Given the description of an element on the screen output the (x, y) to click on. 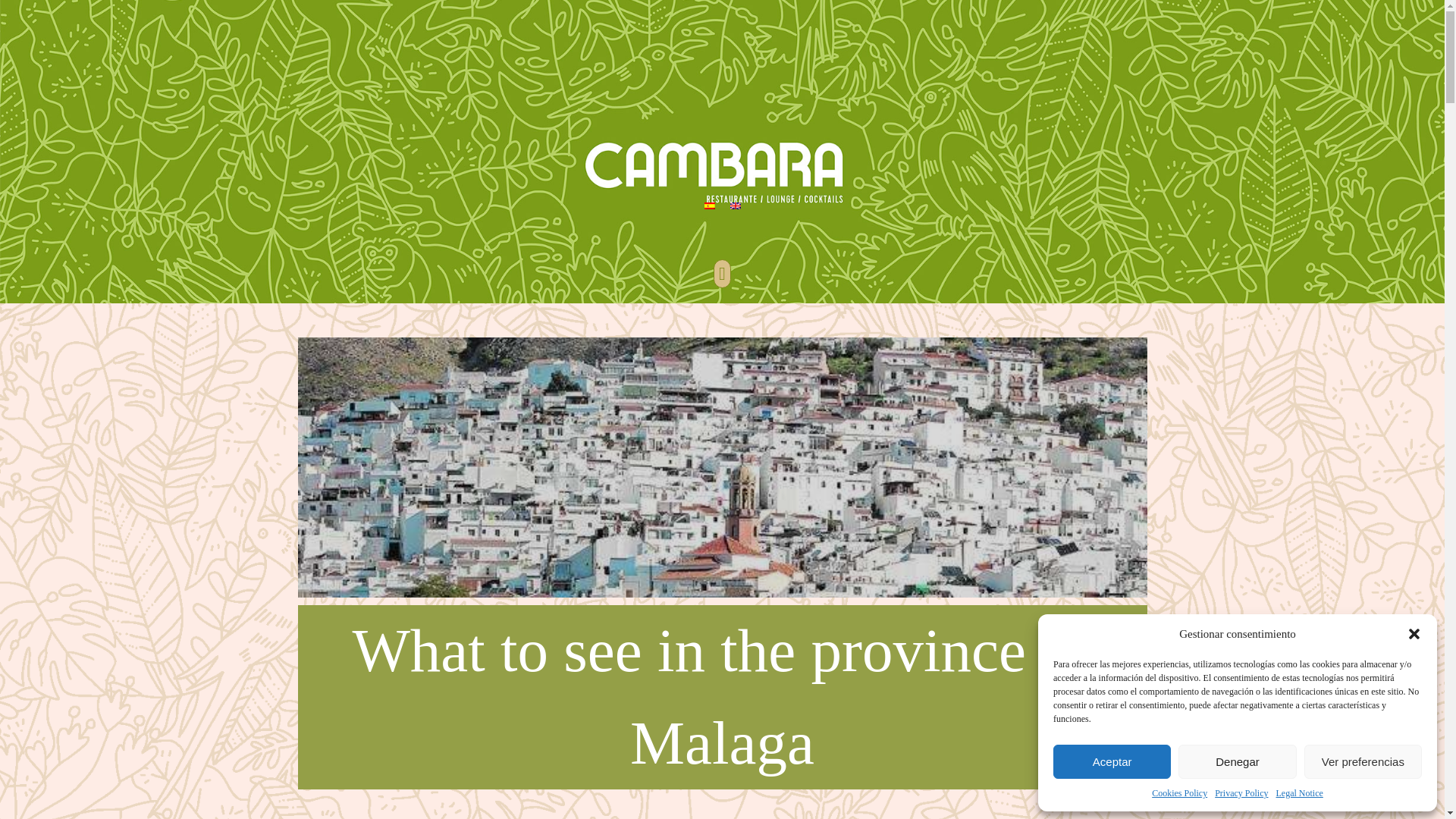
Legal Notice (1299, 793)
Cookies Policy (1179, 793)
Denegar (1236, 761)
Aceptar (1111, 761)
Ver preferencias (1363, 761)
Privacy Policy (1241, 793)
